Given the description of an element on the screen output the (x, y) to click on. 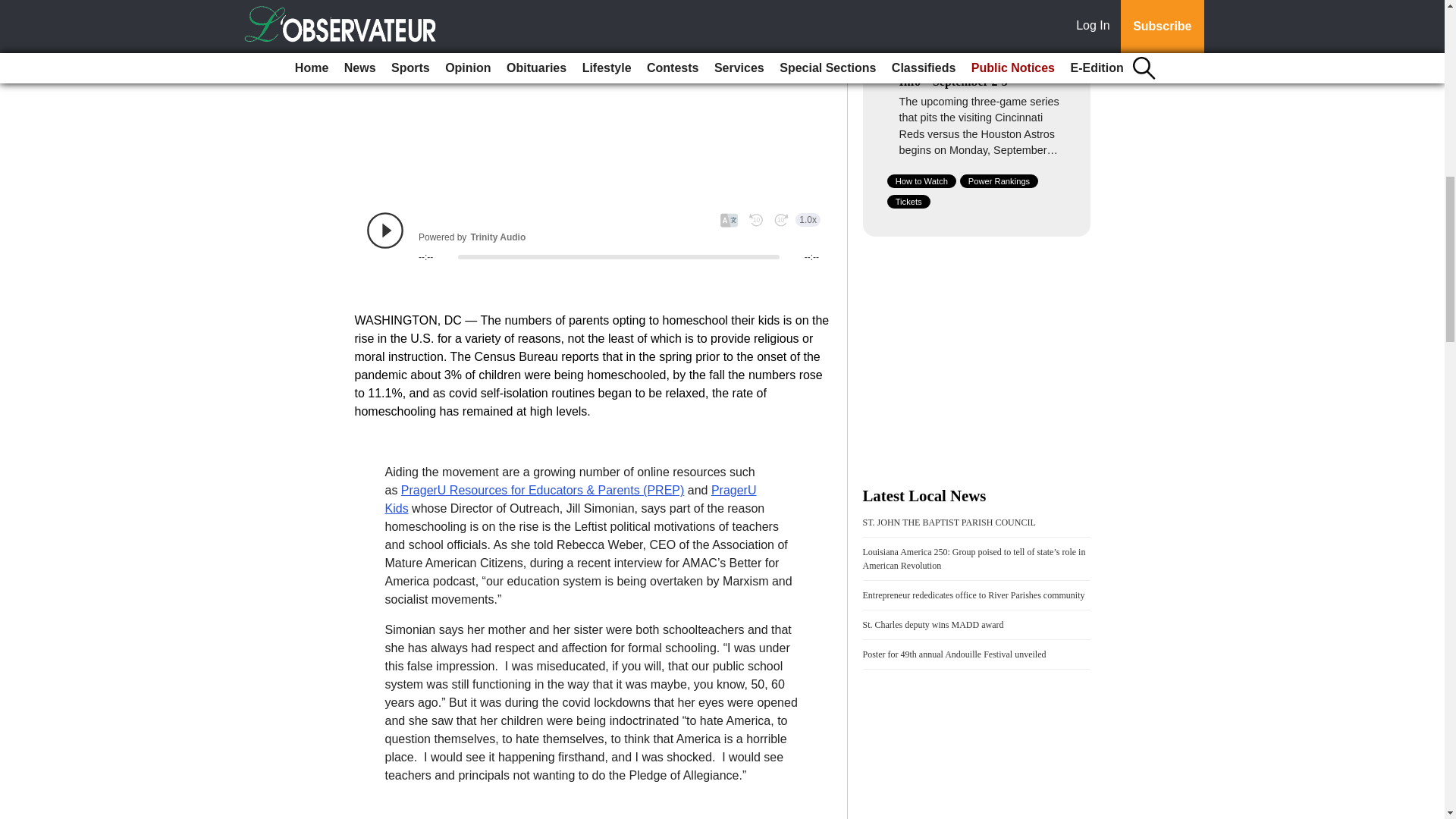
How to Watch (921, 181)
Trinity Audio Player (592, 237)
PragerU Kids (571, 499)
Tickets (908, 201)
Power Rankings (999, 181)
